Given the description of an element on the screen output the (x, y) to click on. 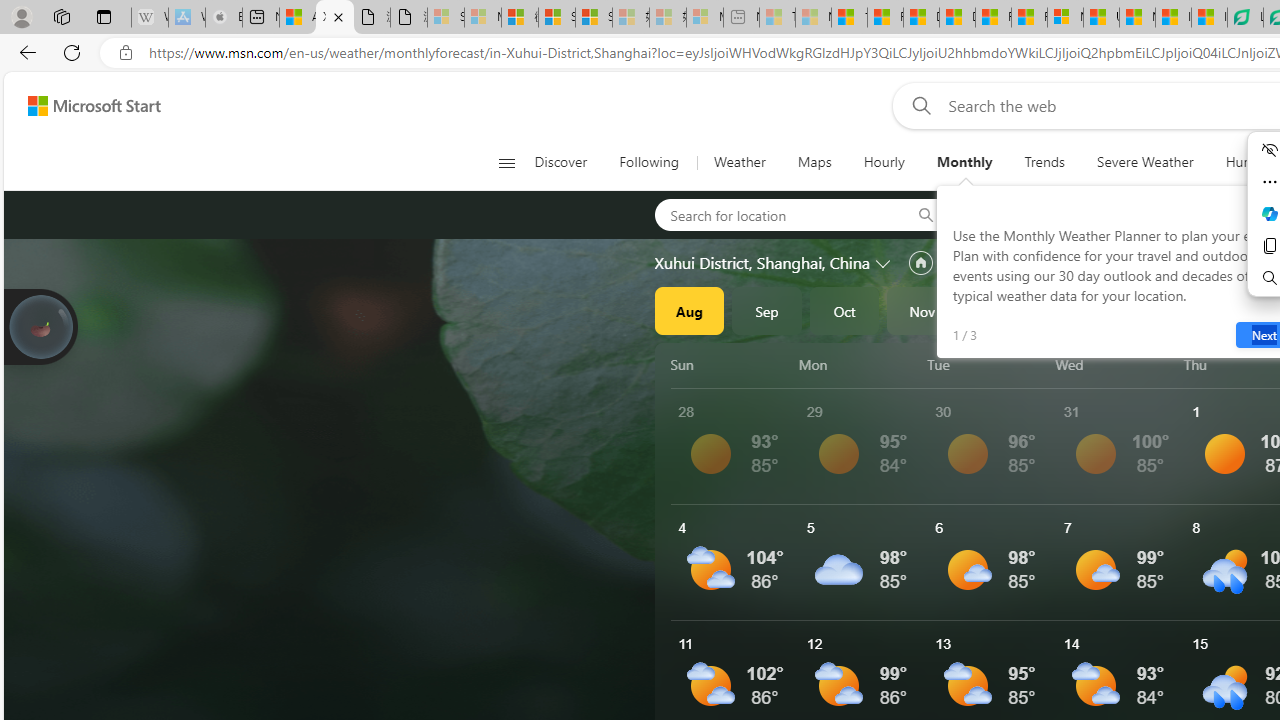
Food and Drink - MSN (884, 17)
Dec (1000, 310)
Feb (1155, 310)
Hourly (883, 162)
Xuhui District, Shanghai, China (762, 263)
Dec (1000, 310)
Join us in planting real trees to help our planet! (40, 327)
Severe Weather (1145, 162)
Mar (1233, 310)
Microsoft account | Account Checkup - Sleeping (705, 17)
Join us in planting real trees to help our planet! (40, 325)
